Given the description of an element on the screen output the (x, y) to click on. 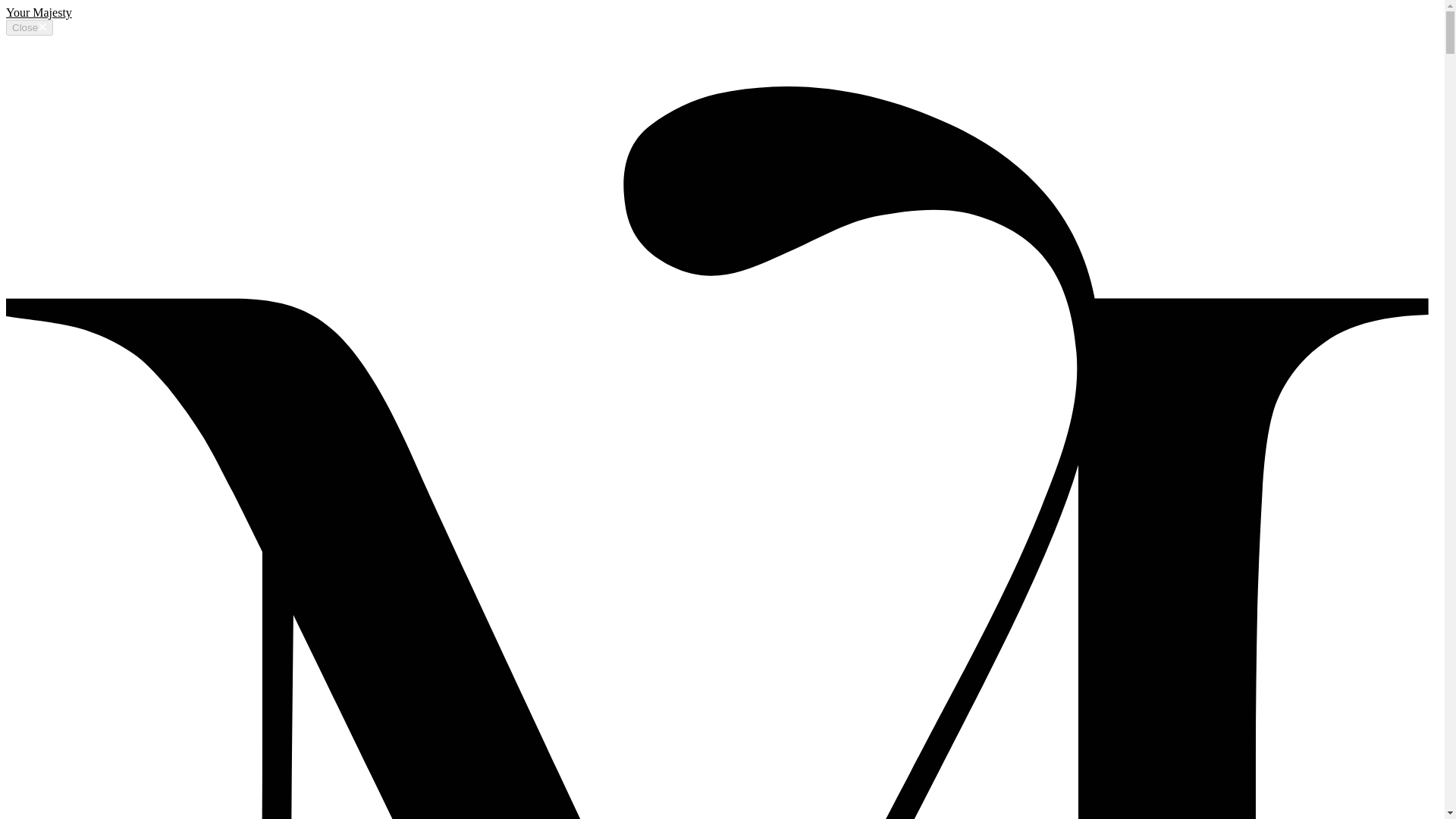
Close (28, 27)
Your Majesty (38, 11)
